Given the description of an element on the screen output the (x, y) to click on. 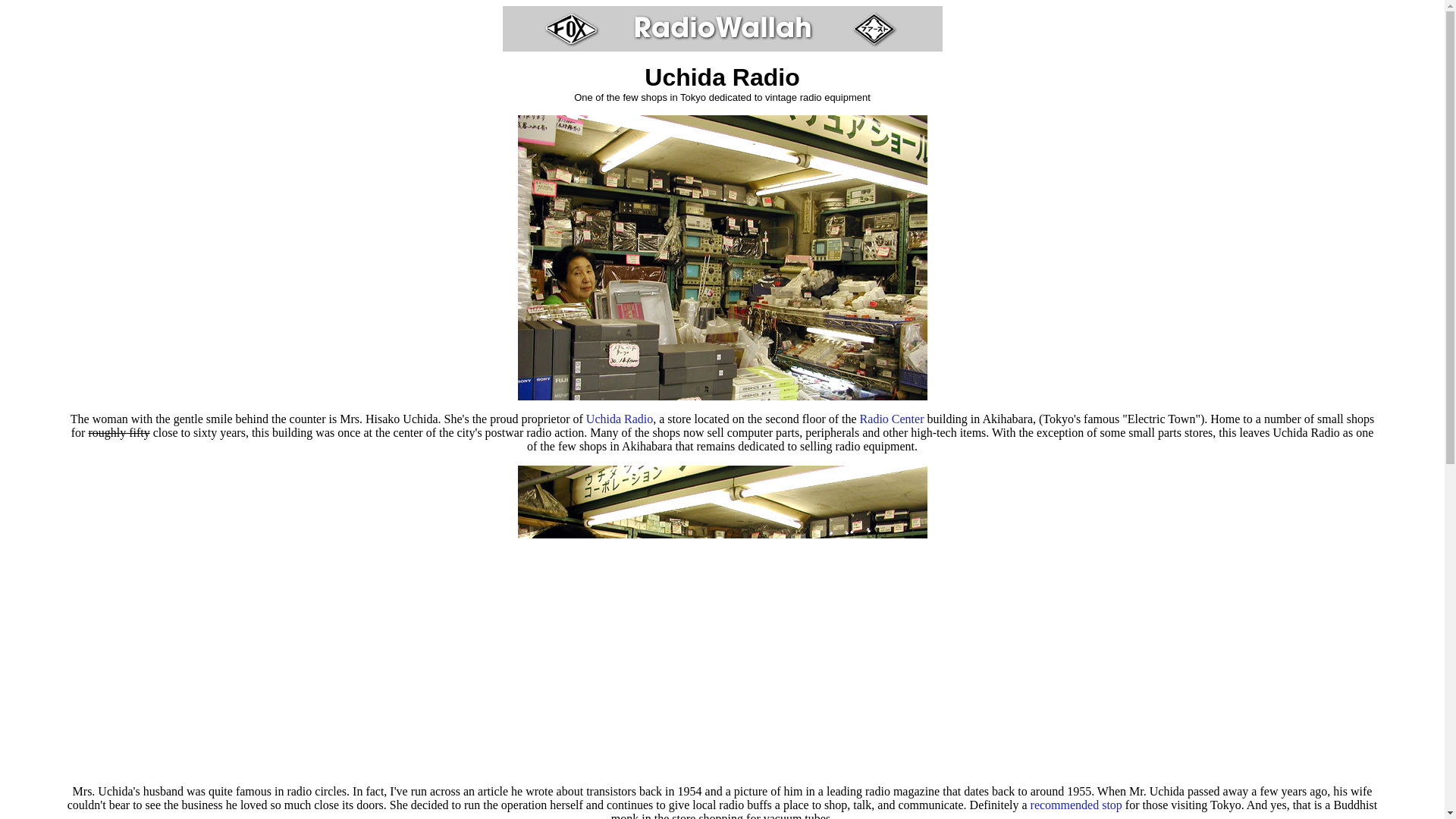
Uchida Radio (619, 418)
recommended stop (1076, 804)
Radio Center (892, 418)
